Given the description of an element on the screen output the (x, y) to click on. 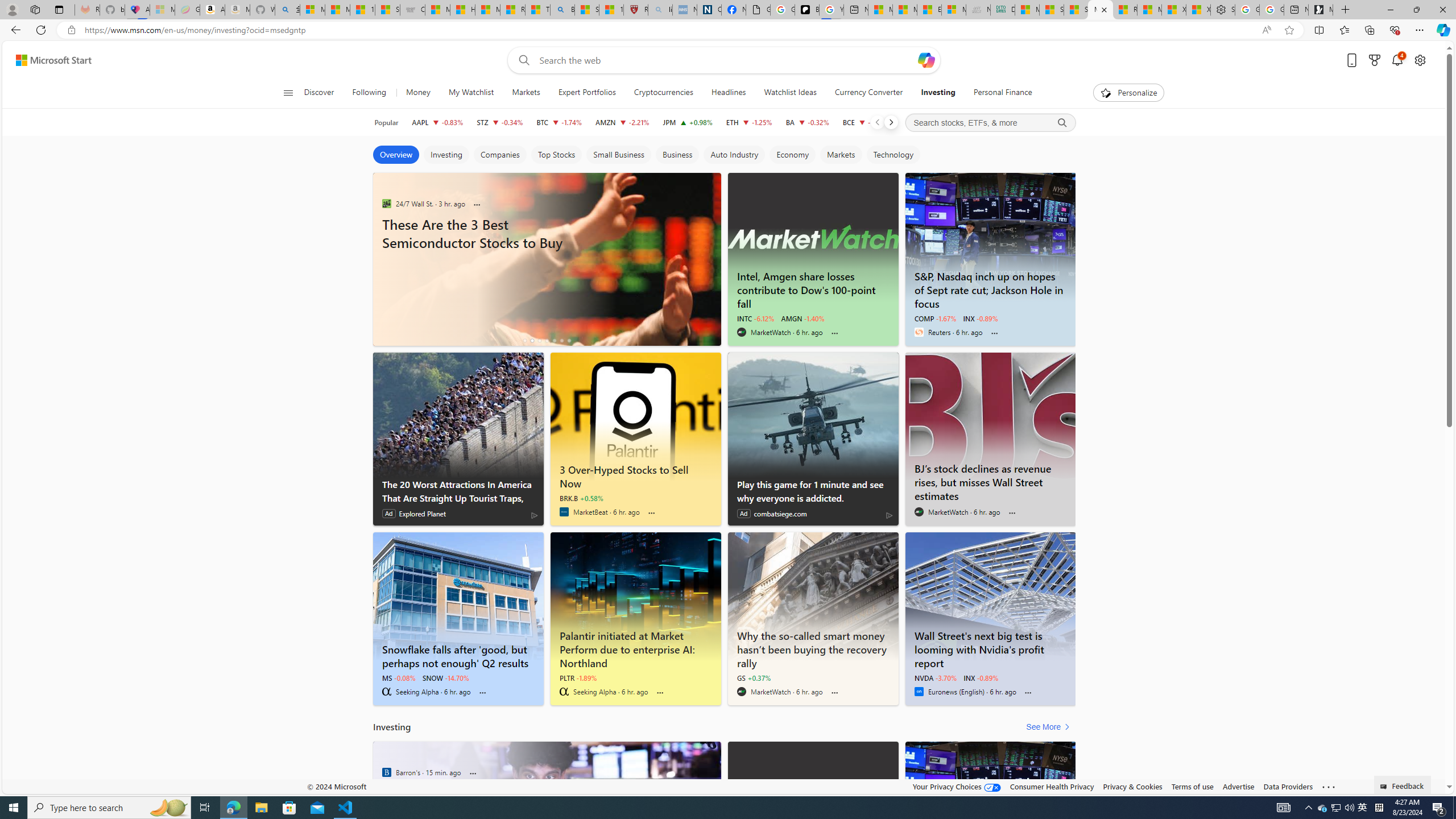
Watchlist Ideas (789, 92)
Markets (526, 92)
INTC -6.12% (755, 317)
